Given the description of an element on the screen output the (x, y) to click on. 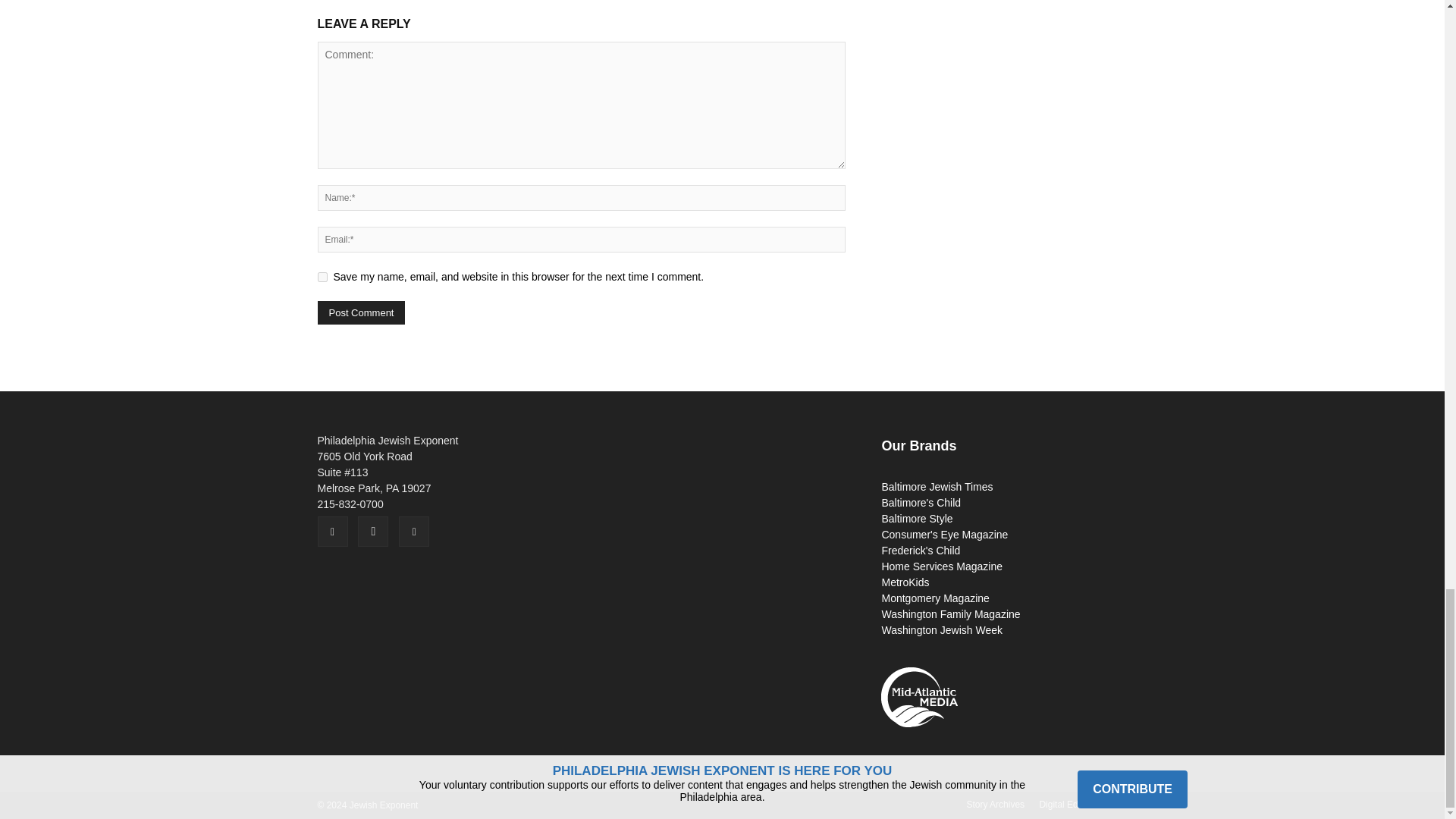
yes (321, 276)
Post Comment (360, 312)
